Given the description of an element on the screen output the (x, y) to click on. 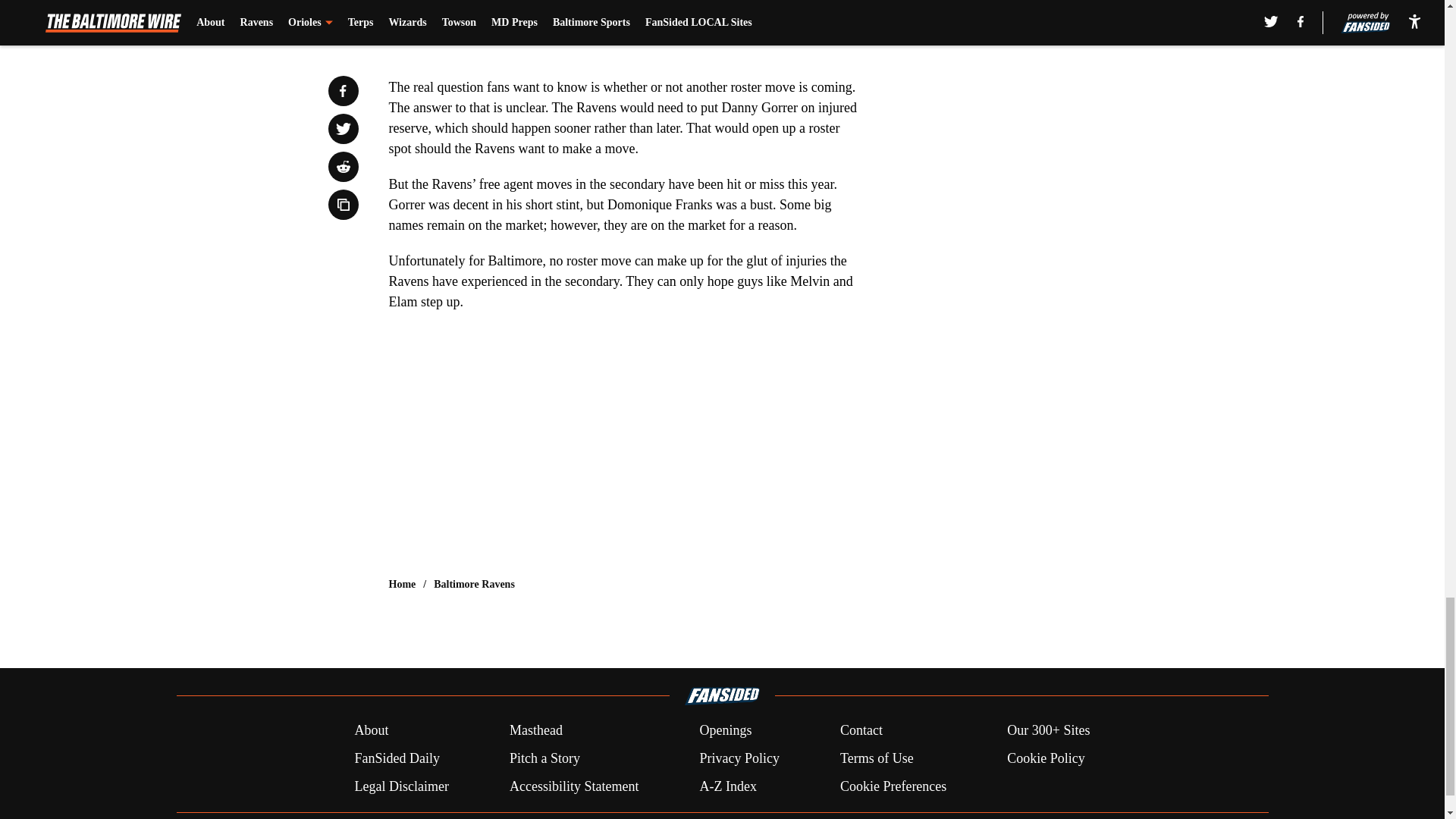
Baltimore Ravens (474, 584)
About (370, 730)
Home (401, 584)
Masthead (535, 730)
